Given the description of an element on the screen output the (x, y) to click on. 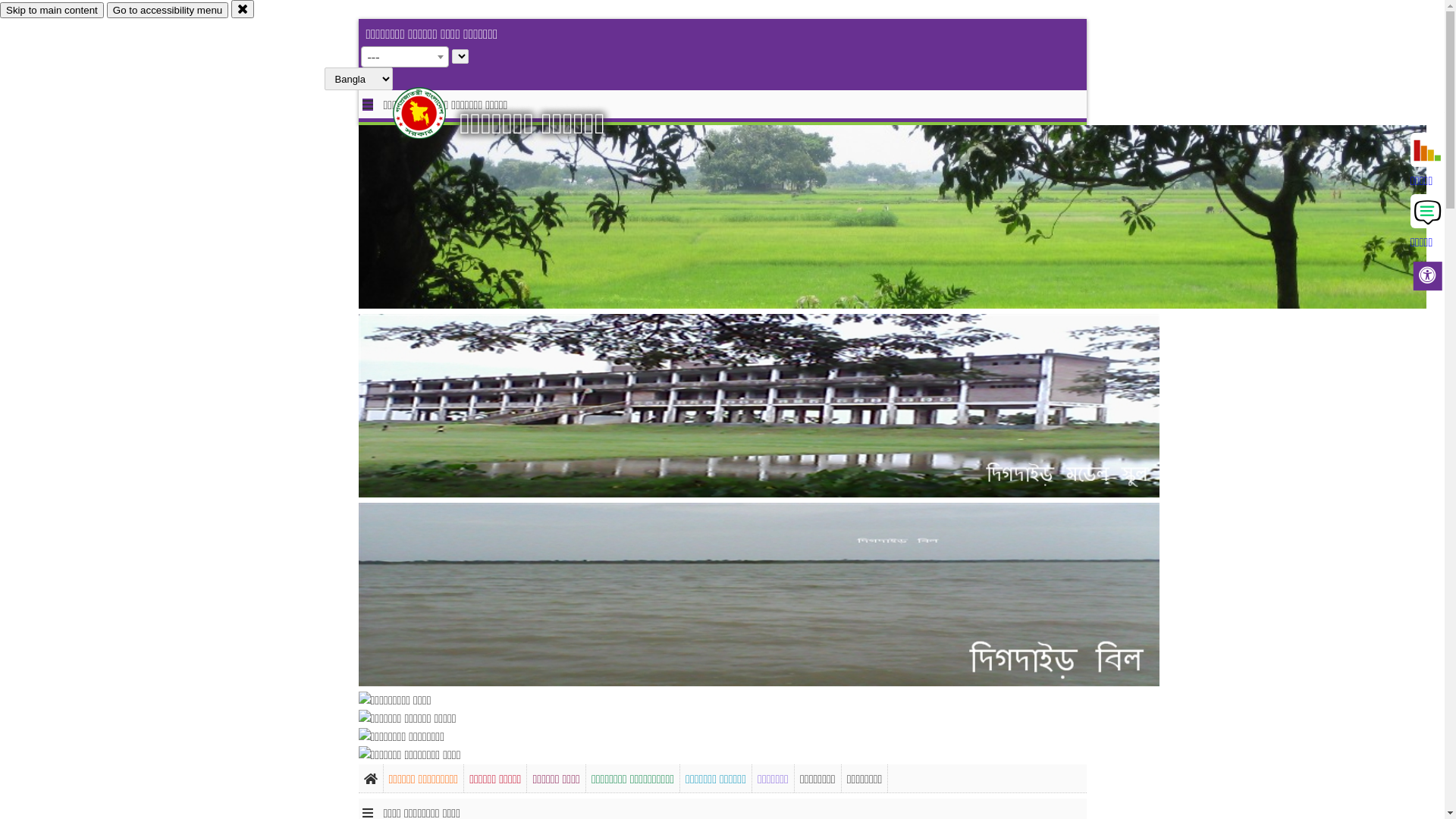

                
             Element type: hover (431, 112)
Go to accessibility menu Element type: text (167, 10)
Skip to main content Element type: text (51, 10)
close Element type: hover (242, 9)
